Given the description of an element on the screen output the (x, y) to click on. 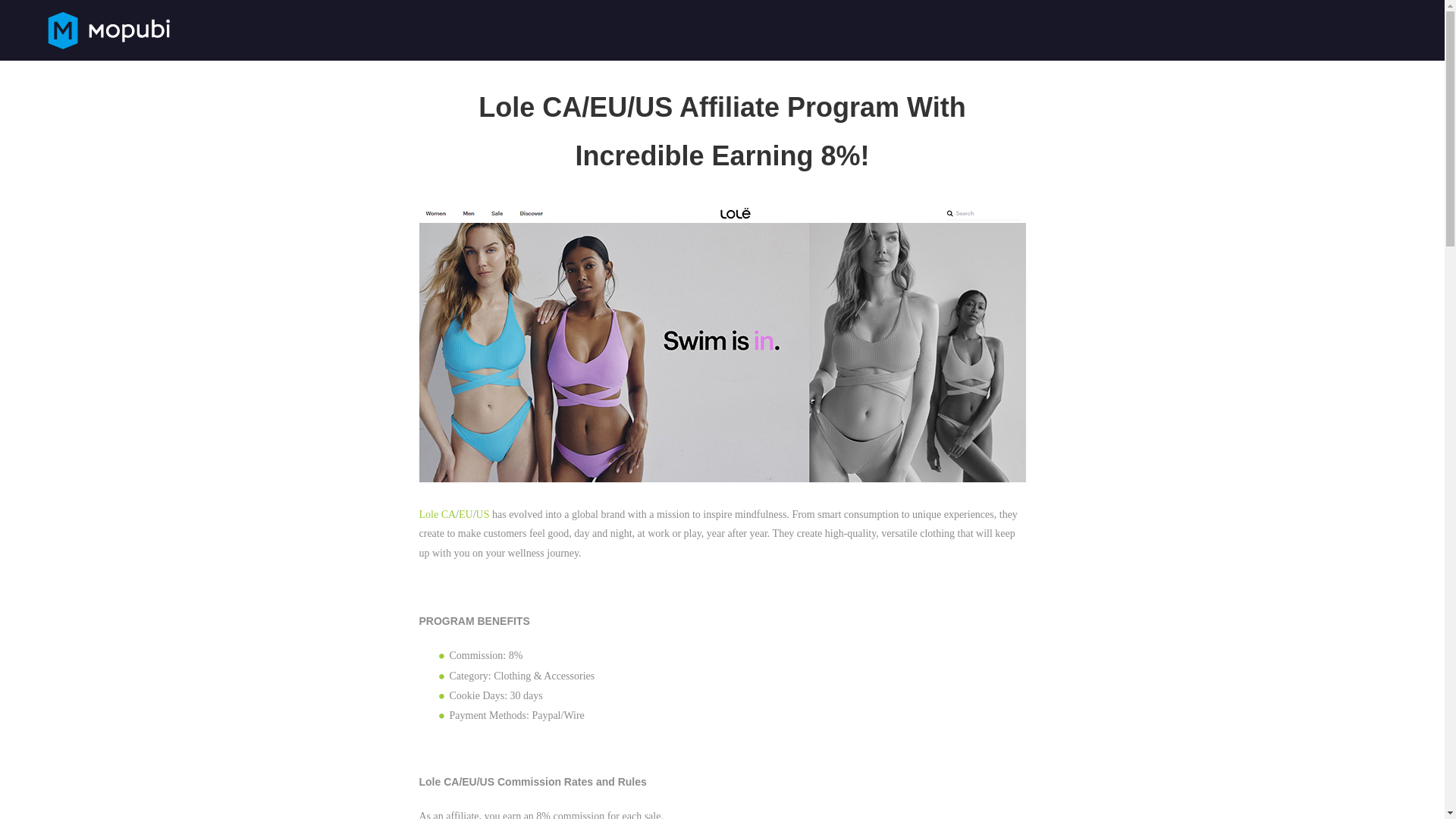
Mopubi.com (109, 28)
EU (465, 514)
US (482, 514)
Lole CA (437, 514)
